Given the description of an element on the screen output the (x, y) to click on. 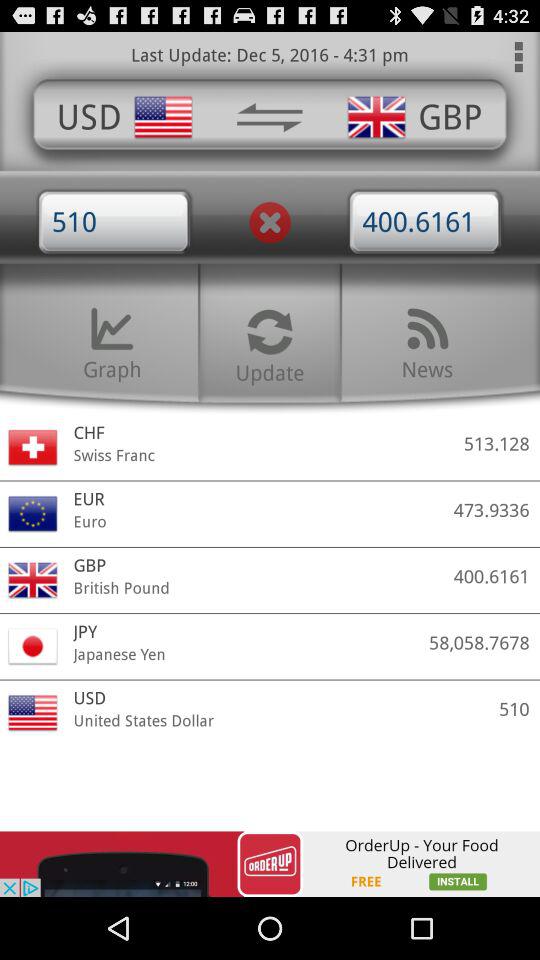
close (269, 222)
